Given the description of an element on the screen output the (x, y) to click on. 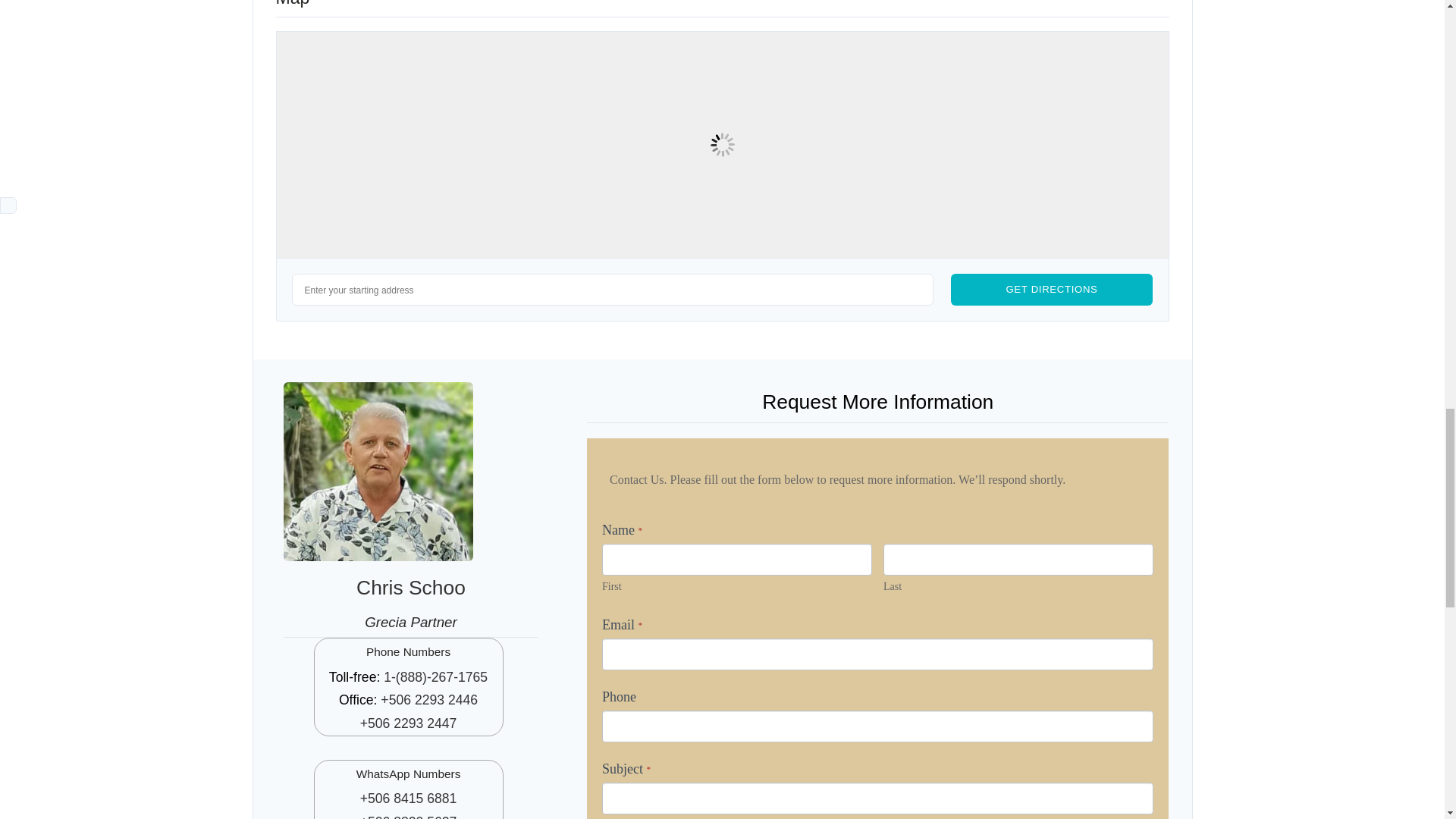
get directions (1051, 289)
